Given the description of an element on the screen output the (x, y) to click on. 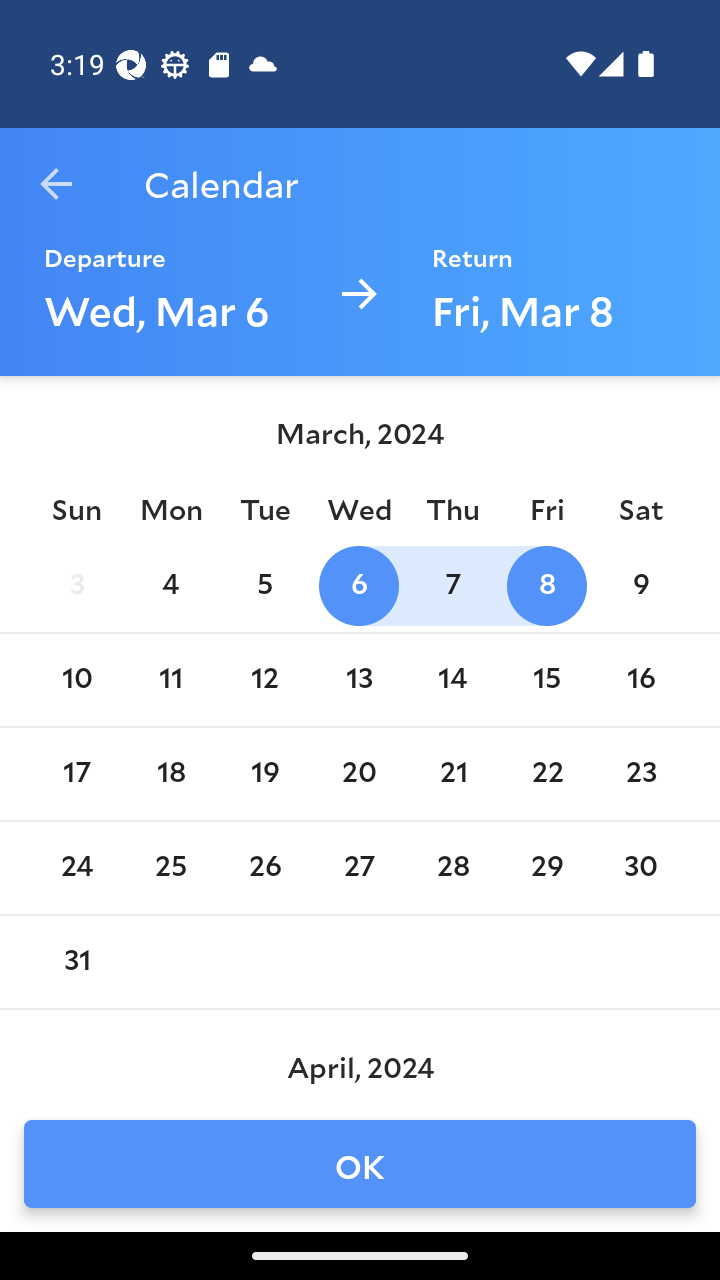
Navigate up (56, 184)
3 (76, 585)
4 (170, 585)
5 (264, 585)
6 (358, 585)
7 (453, 585)
8 (546, 585)
9 (641, 585)
10 (76, 679)
11 (170, 679)
12 (264, 679)
13 (358, 679)
14 (453, 679)
15 (546, 679)
16 (641, 679)
17 (76, 773)
18 (170, 773)
19 (264, 773)
20 (358, 773)
21 (453, 773)
22 (546, 773)
23 (641, 773)
24 (76, 867)
25 (170, 867)
26 (264, 867)
27 (358, 867)
28 (453, 867)
29 (546, 867)
30 (641, 867)
31 (76, 961)
OK (359, 1164)
